Given the description of an element on the screen output the (x, y) to click on. 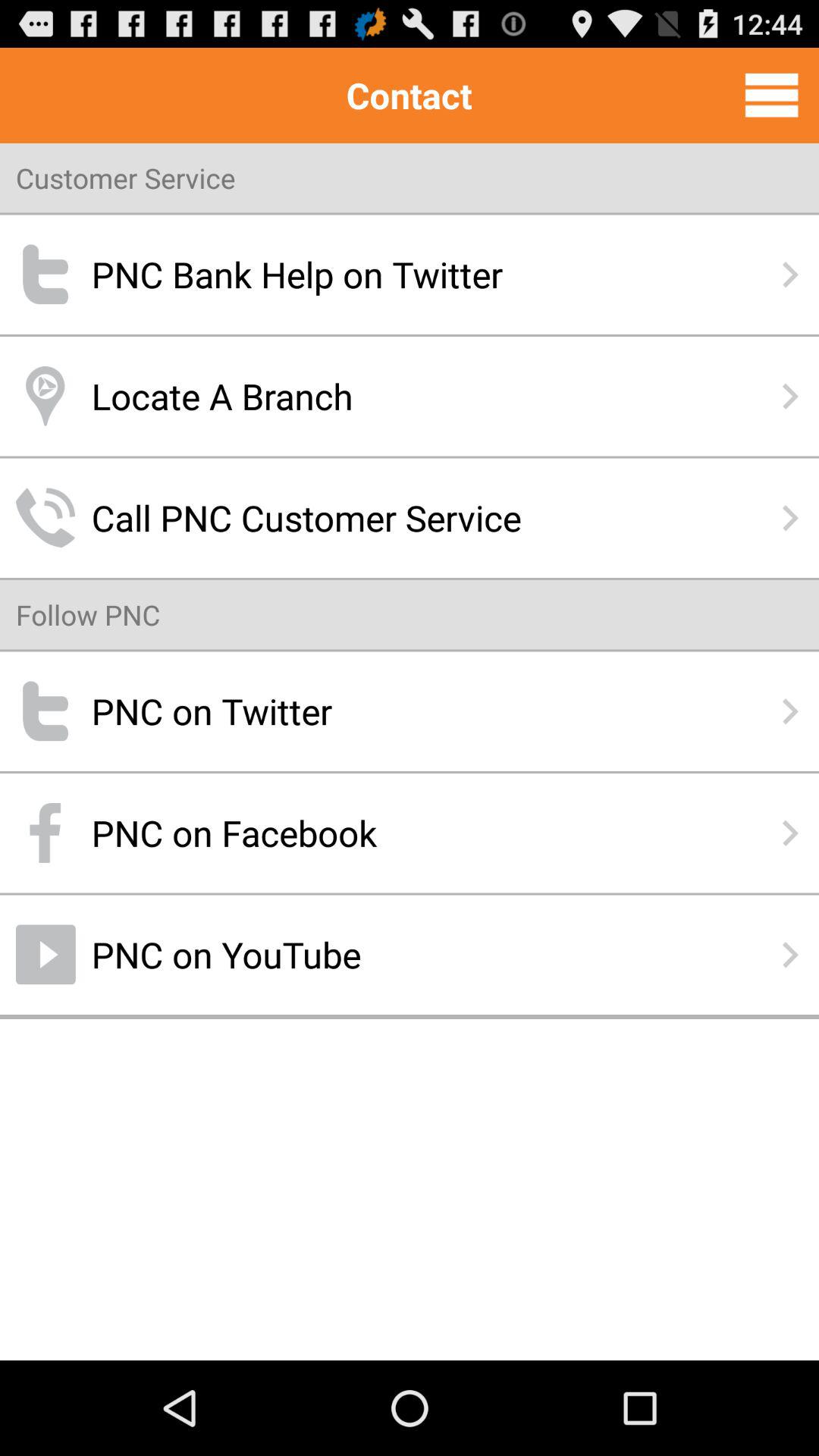
jump to the pnc bank help icon (409, 274)
